Given the description of an element on the screen output the (x, y) to click on. 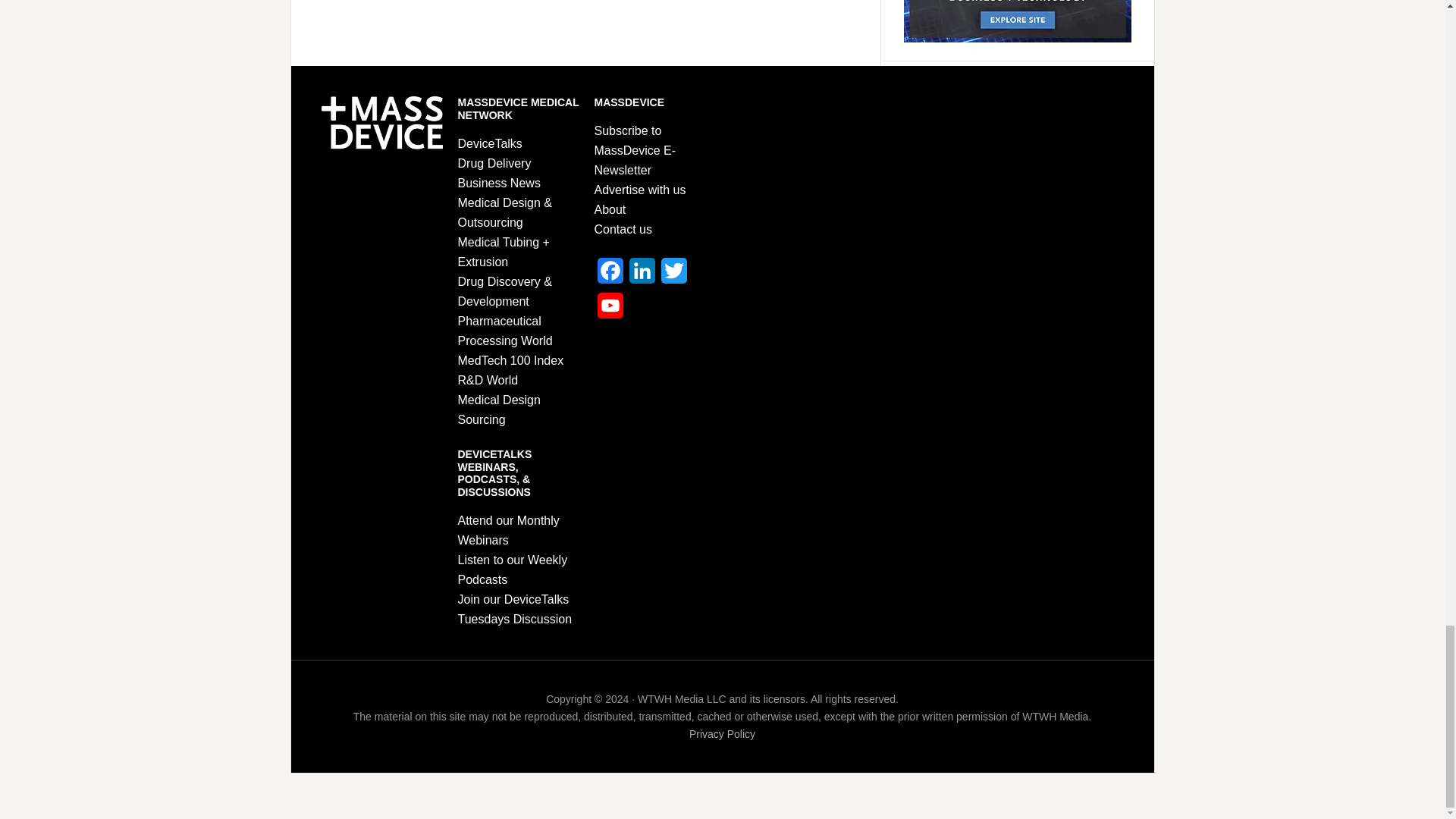
Facebook (610, 274)
YouTube Channel (610, 309)
LinkedIn Company (642, 274)
Twitter (674, 274)
